Given the description of an element on the screen output the (x, y) to click on. 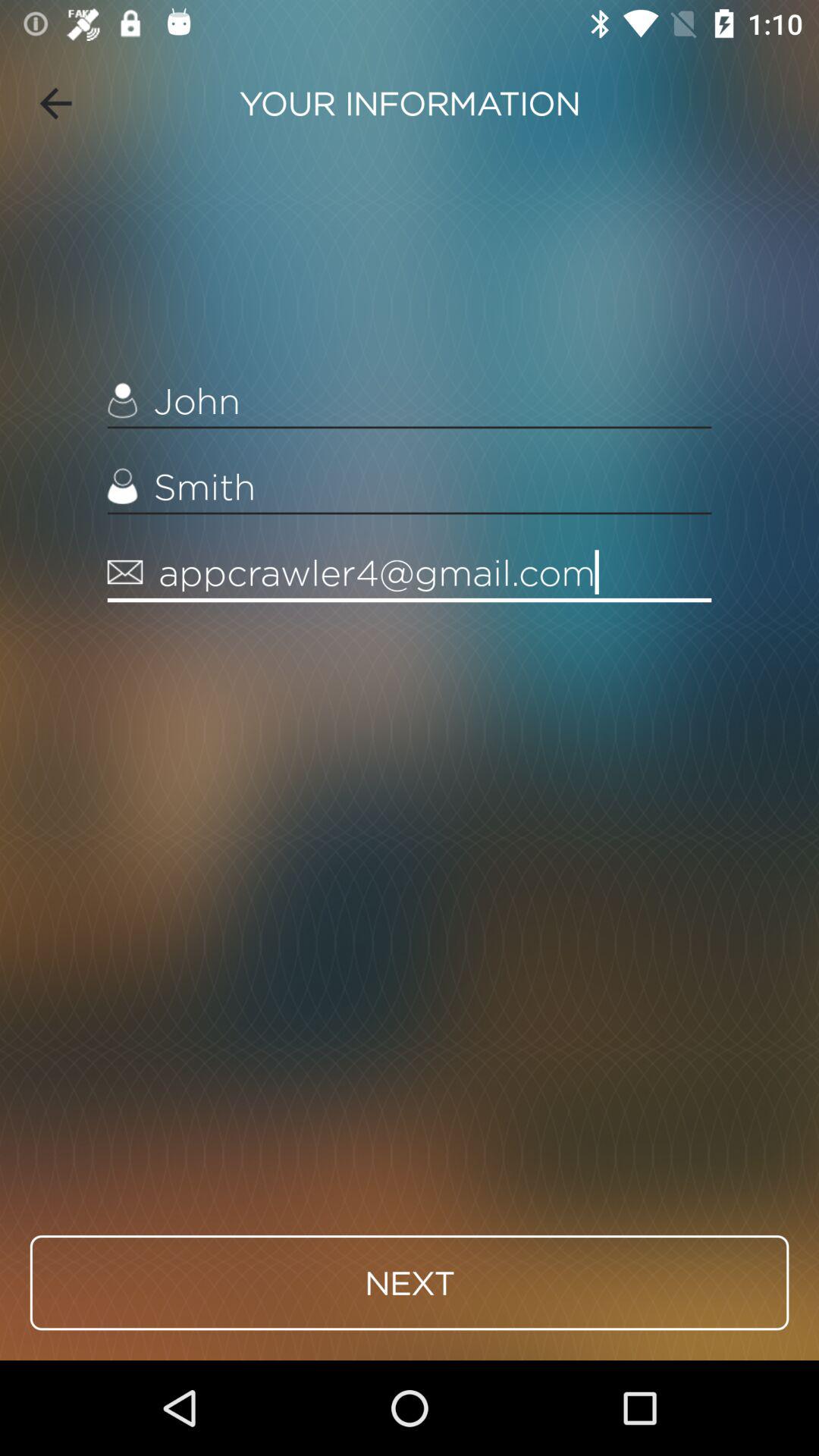
turn off item next to your information (55, 103)
